Given the description of an element on the screen output the (x, y) to click on. 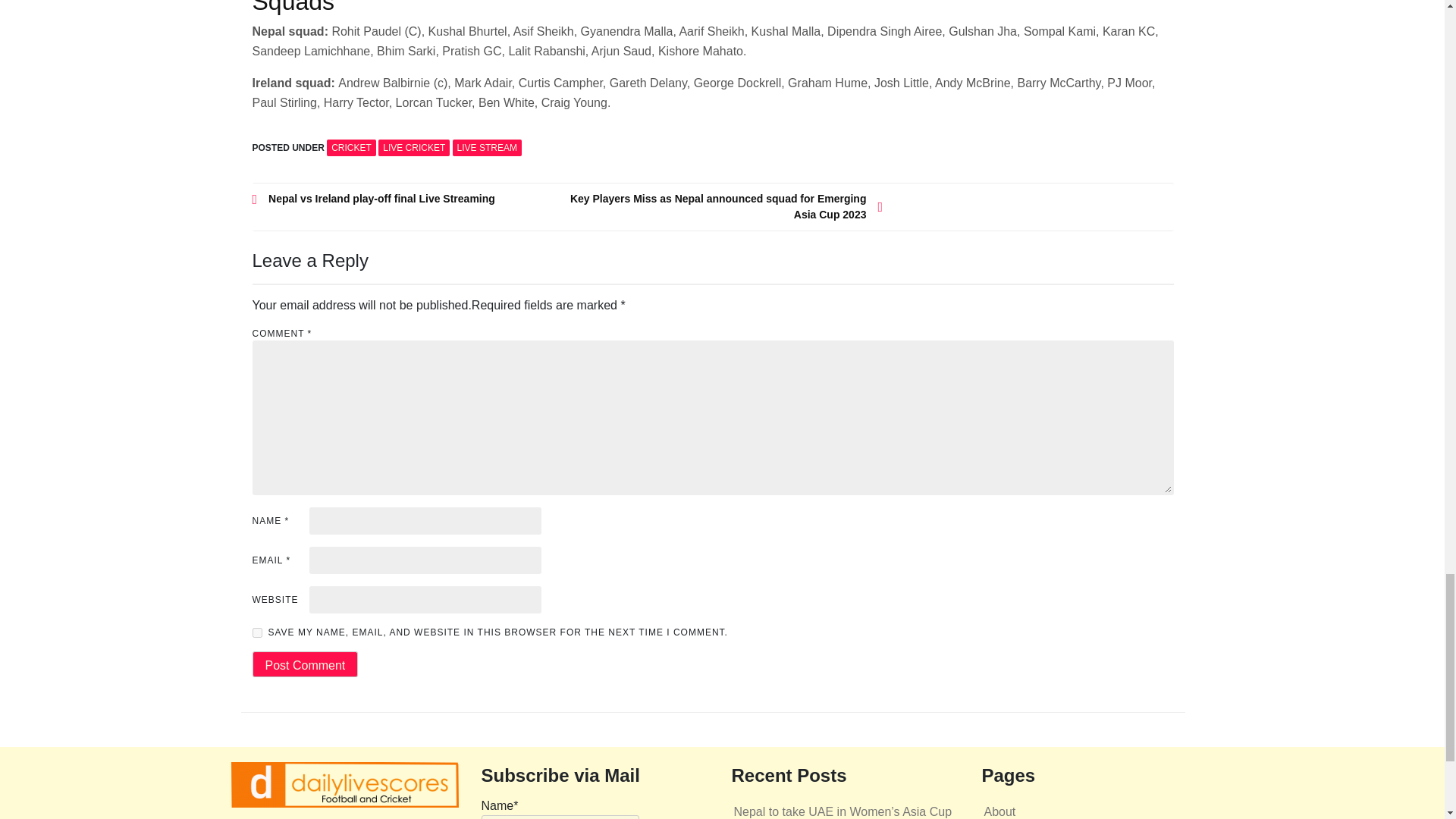
LIVE STREAM (486, 147)
CRICKET (350, 147)
LIVE CRICKET (413, 147)
Post Comment (304, 664)
Post Comment (304, 664)
Nepal vs Ireland play-off final Live Streaming (409, 198)
yes (256, 633)
